Given the description of an element on the screen output the (x, y) to click on. 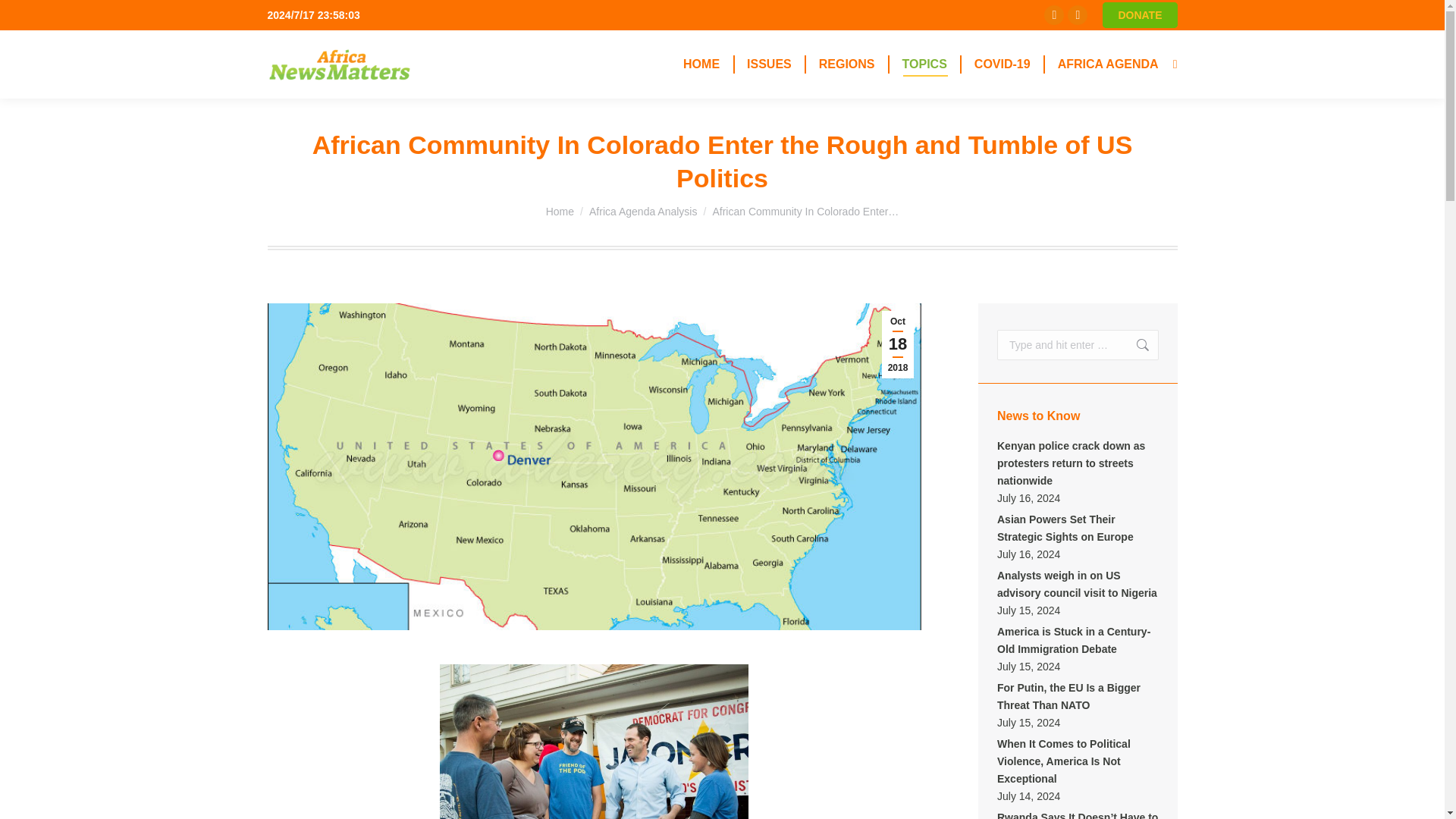
COVID-19 (1002, 64)
Go! (1134, 345)
Africa Agenda Analysis (643, 211)
REGIONS (846, 64)
Go! (24, 16)
X page opens in new window (1077, 14)
Home (559, 211)
11:14 pm (898, 344)
Facebook page opens in new window (1053, 14)
ISSUES (769, 64)
AFRICA AGENDA (1107, 64)
Go! (1134, 345)
TOPICS (924, 64)
Facebook page opens in new window (1053, 14)
HOME (700, 64)
